Given the description of an element on the screen output the (x, y) to click on. 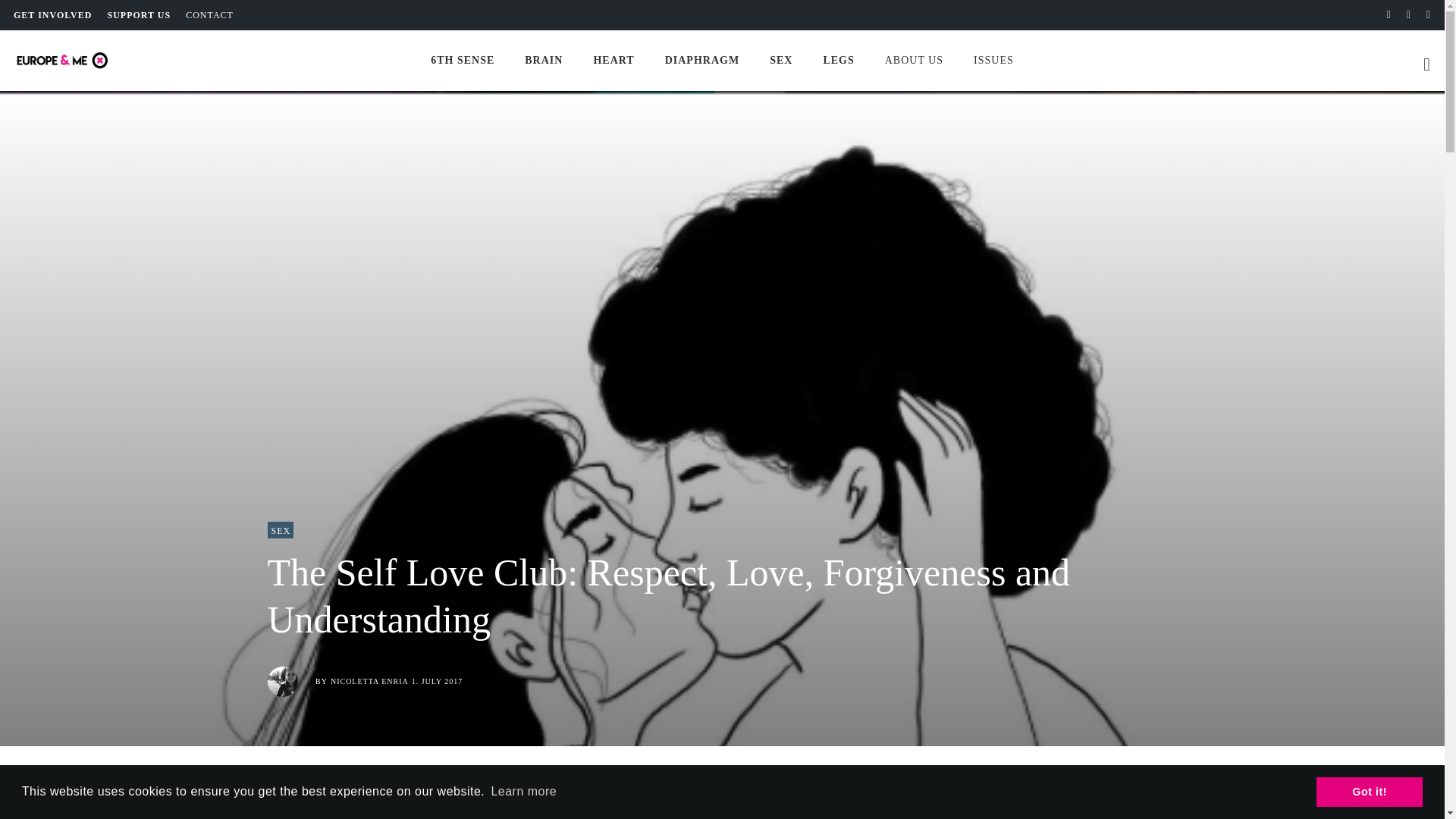
Learn more (523, 791)
View all posts in 5463 (280, 529)
GET INVOLVED (52, 15)
SUPPORT US (138, 15)
CONTACT (209, 15)
Got it! (1369, 791)
